Given the description of an element on the screen output the (x, y) to click on. 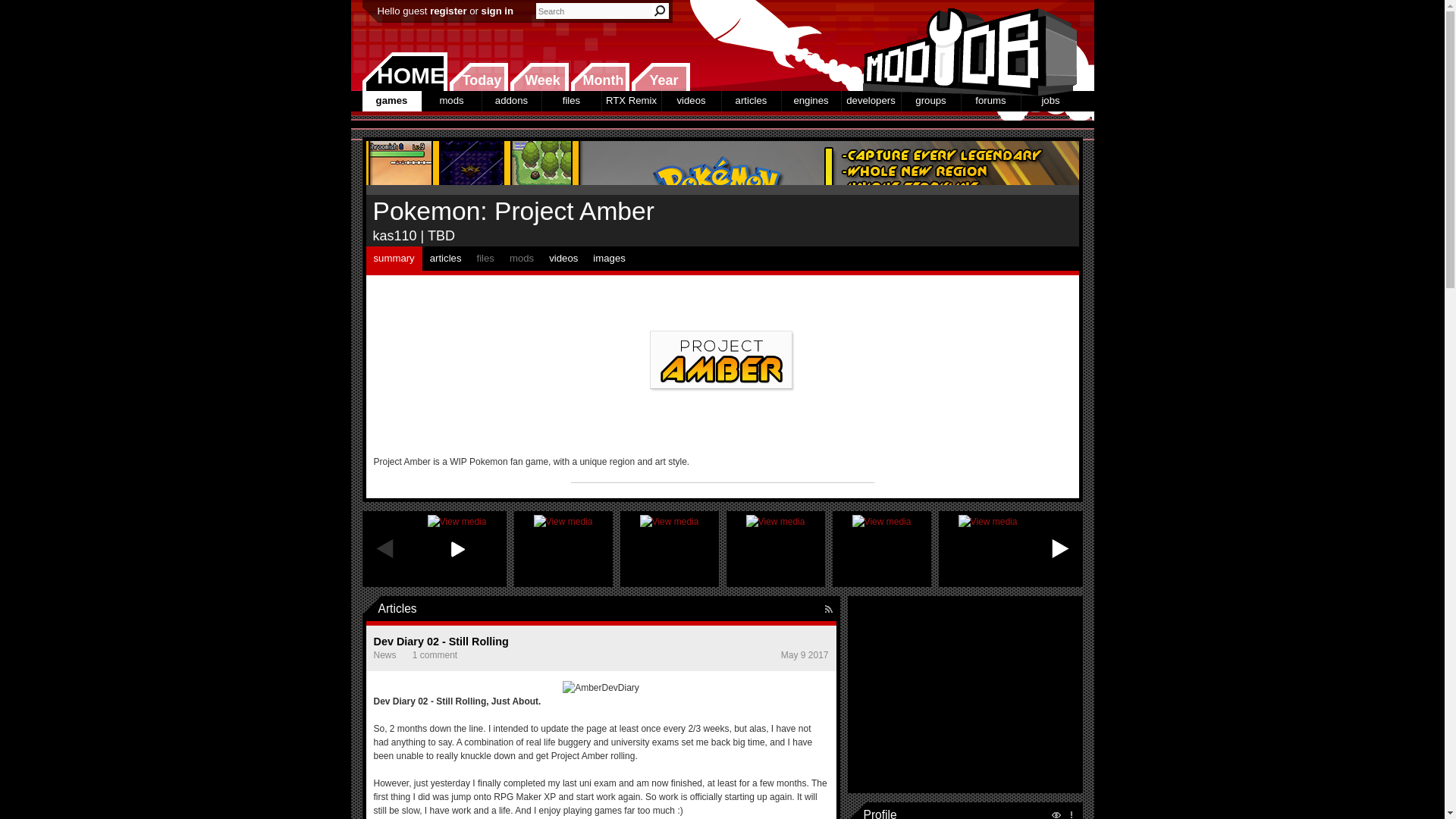
Project Amber: Launch Showcase (456, 549)
sign in (497, 10)
New this month (599, 76)
RTX Remix (631, 100)
games (392, 100)
Talos Port (775, 549)
ModDB Home (965, 45)
New this year (660, 76)
New today (478, 76)
files (570, 100)
